Given the description of an element on the screen output the (x, y) to click on. 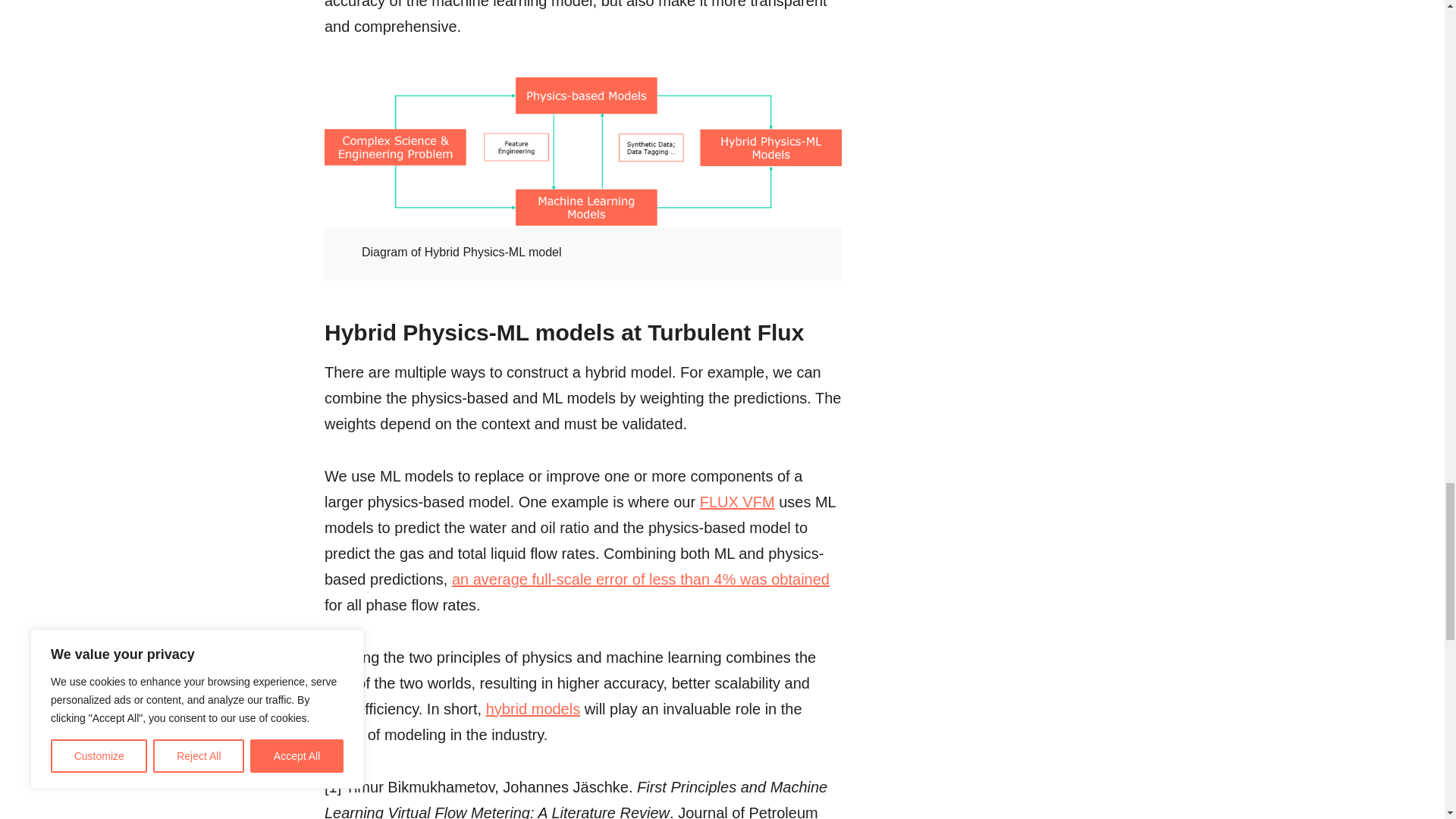
FLUX VFM (737, 501)
hybrid models (533, 709)
